Given the description of an element on the screen output the (x, y) to click on. 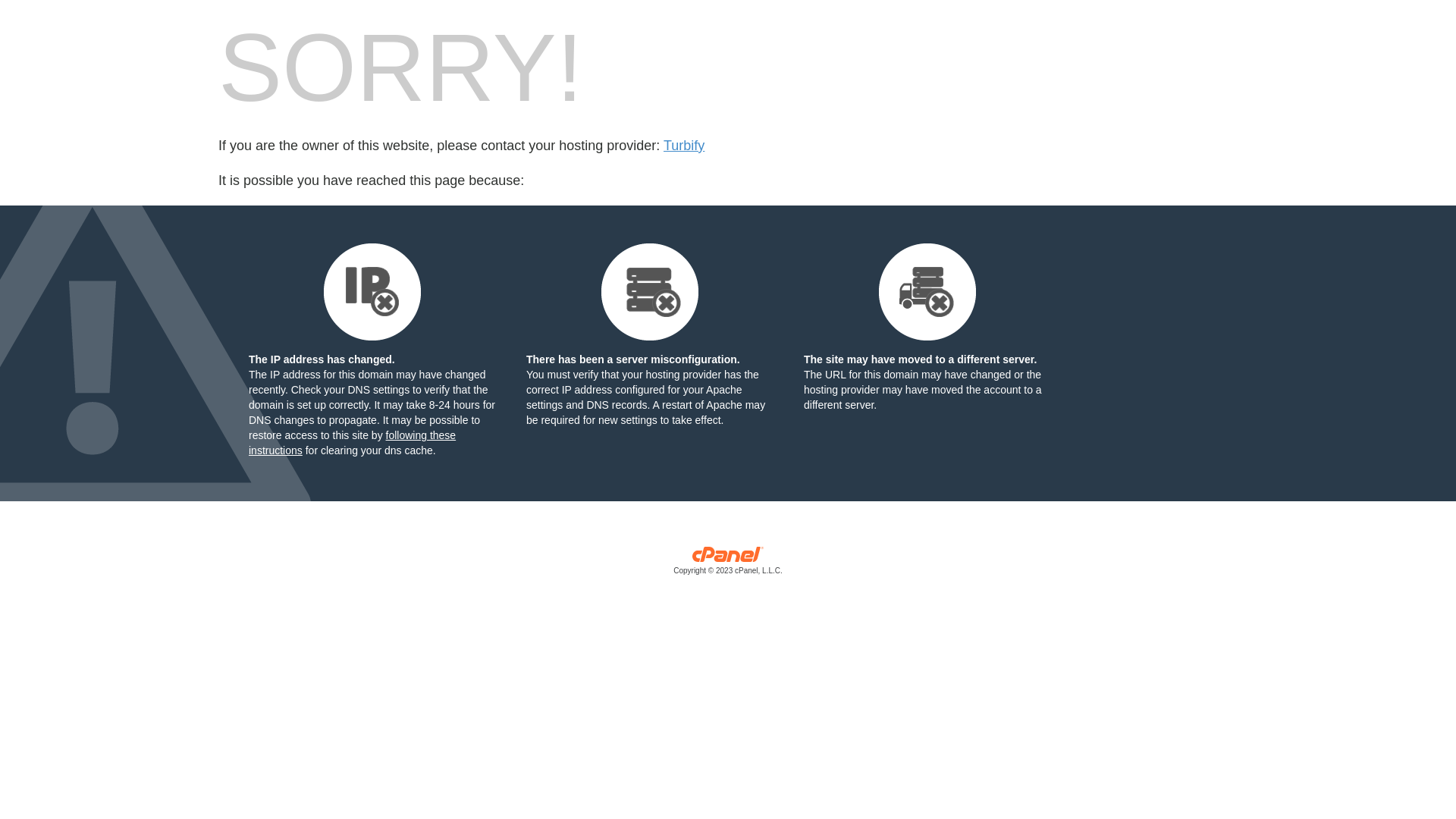
Turbify Element type: text (683, 145)
following these instructions Element type: text (351, 442)
